Given the description of an element on the screen output the (x, y) to click on. 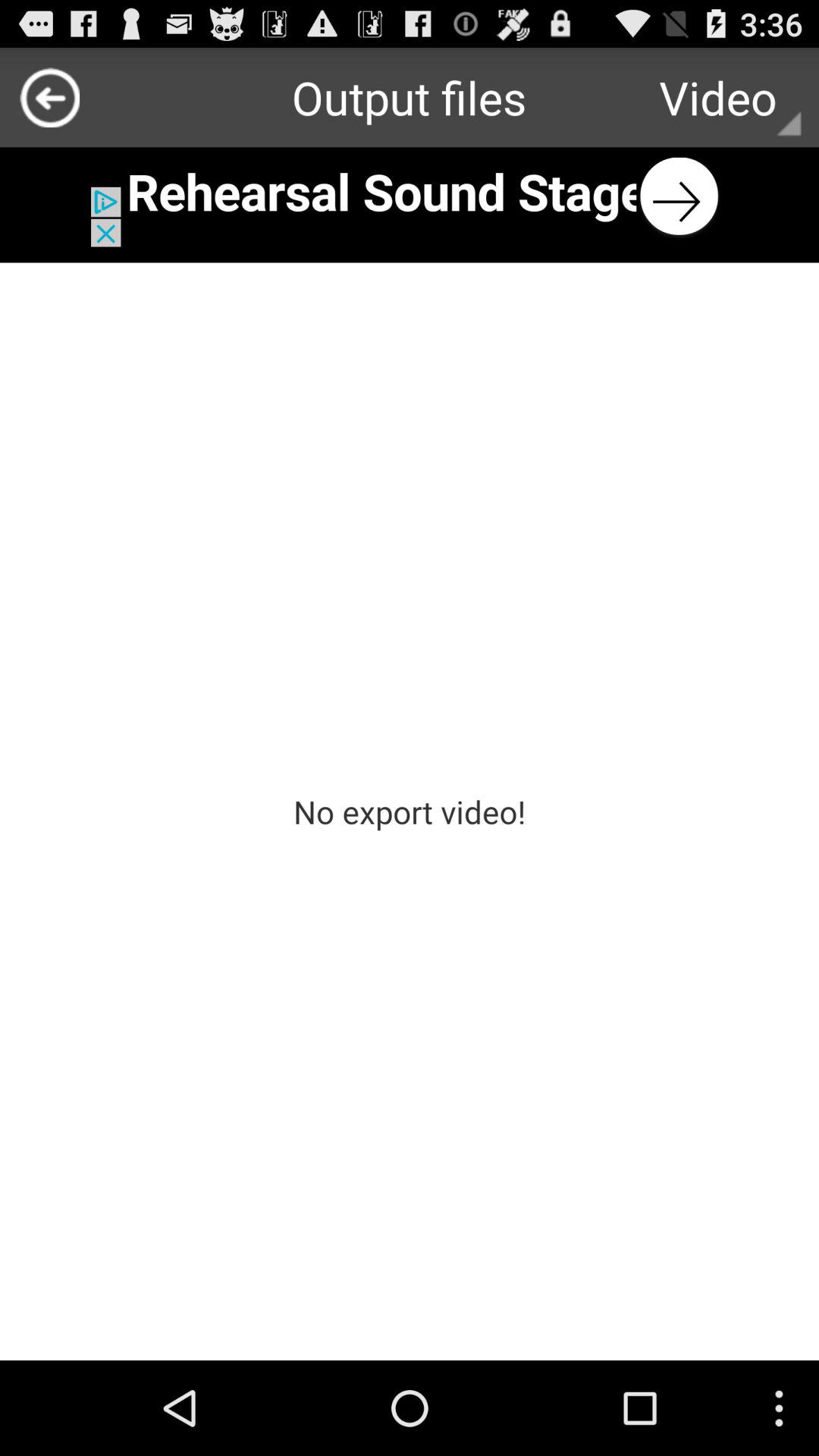
go to next (409, 196)
